Given the description of an element on the screen output the (x, y) to click on. 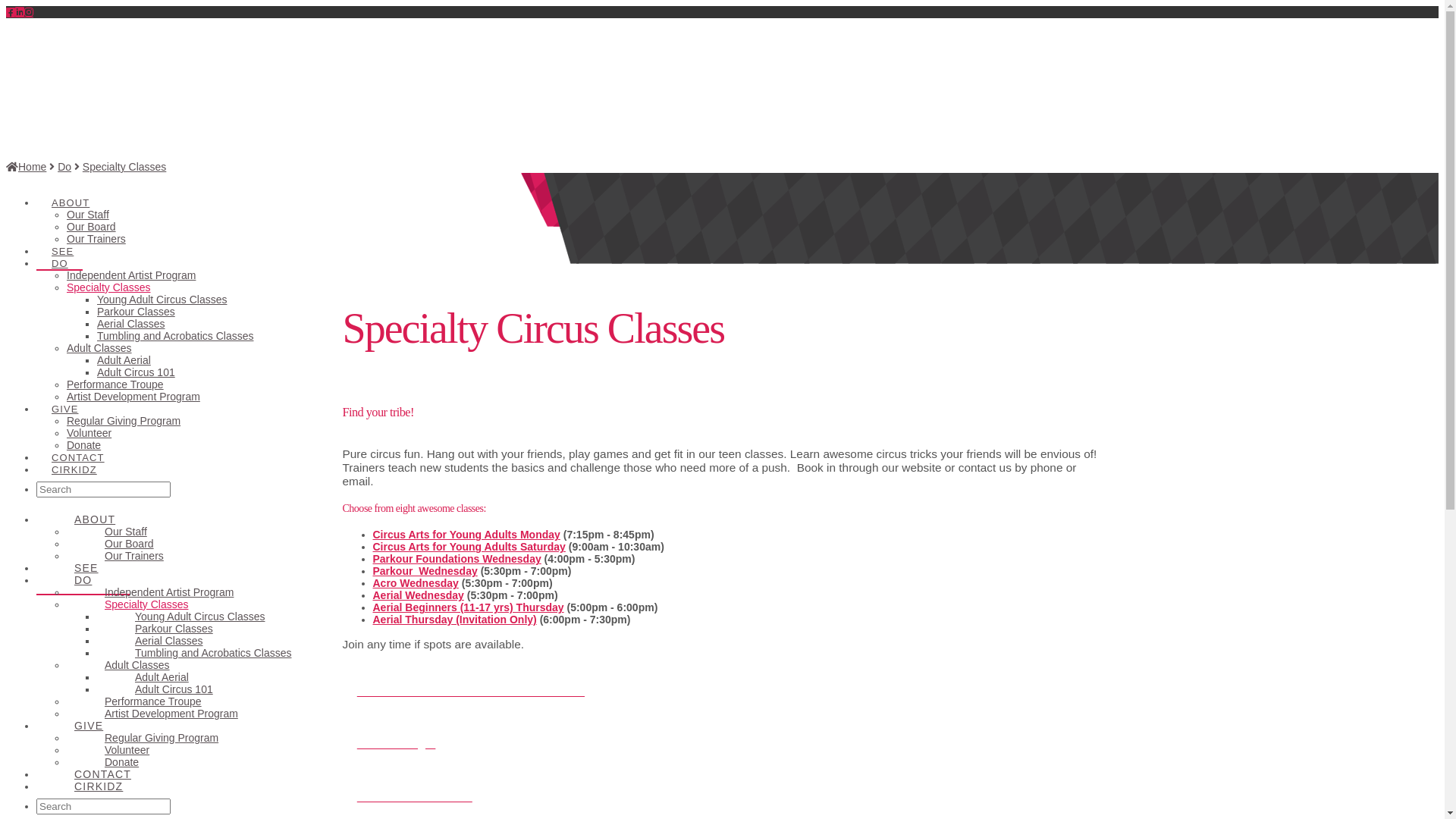
Parkour Classes Element type: text (136, 311)
Acro Wednesday Element type: text (415, 583)
CIRKIDZ Element type: text (73, 455)
Do Element type: text (64, 166)
SEE Element type: text (61, 237)
Our Staff Element type: text (125, 531)
Artist Development Program Element type: text (133, 396)
Facebook Element type: hover (10, 12)
Volunteer Element type: text (126, 749)
Independent Artist Program Element type: text (130, 275)
Aerial Wednesday Element type: text (418, 595)
Circus Arts for Young Adults Saturday Element type: text (469, 546)
Adult Circus 101 Element type: text (136, 372)
Instagram Element type: hover (28, 12)
Our Board Element type: text (128, 543)
Aerial Classes Element type: text (168, 640)
Tumbling and Acrobatics Classes Element type: text (213, 652)
Specialty Classes Element type: text (146, 604)
Parkour  Wednesday Element type: text (425, 570)
Circus Arts for Young Adults Monday Element type: text (466, 534)
Our Trainers Element type: text (133, 555)
Download the 2023 Timetable and Pricing Element type: text (722, 705)
LinkedIn Element type: hover (19, 12)
CIRKIDZ Element type: text (98, 786)
DO Element type: text (82, 579)
Artist Development Program Element type: text (171, 713)
Aerial Classes Element type: text (130, 323)
Young Adult Circus Classes Element type: text (199, 616)
Independent Artist Program Element type: text (168, 591)
Aerial Beginners (11-17 yrs) Thursday Element type: text (468, 607)
Young Adult Circus Classes Element type: text (161, 299)
DO Element type: text (59, 249)
ABOUT Element type: text (94, 519)
Parkour Foundations Wednesday Element type: text (457, 558)
Specialty Classes Element type: text (124, 166)
Our Trainers Element type: text (95, 238)
Performance Troupe Element type: text (114, 384)
SEE Element type: text (86, 567)
GIVE Element type: text (88, 725)
Aerial Thursday (Invitation Only) Element type: text (454, 619)
Adult Classes Element type: text (98, 348)
Parkour Classes Element type: text (174, 628)
Home Element type: text (26, 166)
Tumbling and Acrobatics Classes Element type: text (175, 335)
Volunteer Element type: text (88, 432)
Specialty Classes Element type: text (108, 287)
Our Staff Element type: text (87, 214)
Student Login Element type: text (722, 758)
Adult Circus 101 Element type: text (174, 688)
Regular Giving Program Element type: text (161, 737)
Donate Element type: text (83, 445)
ABOUT Element type: text (69, 188)
Regular Giving Program Element type: text (123, 420)
Donate Element type: text (121, 761)
Adult Aerial Element type: text (123, 360)
CONTACT Element type: text (102, 773)
Performance Troupe Element type: text (152, 701)
GIVE Element type: text (64, 394)
Adult Aerial Element type: text (161, 676)
CONTACT Element type: text (77, 443)
Our Board Element type: text (91, 226)
Adult Classes Element type: text (136, 664)
